Given the description of an element on the screen output the (x, y) to click on. 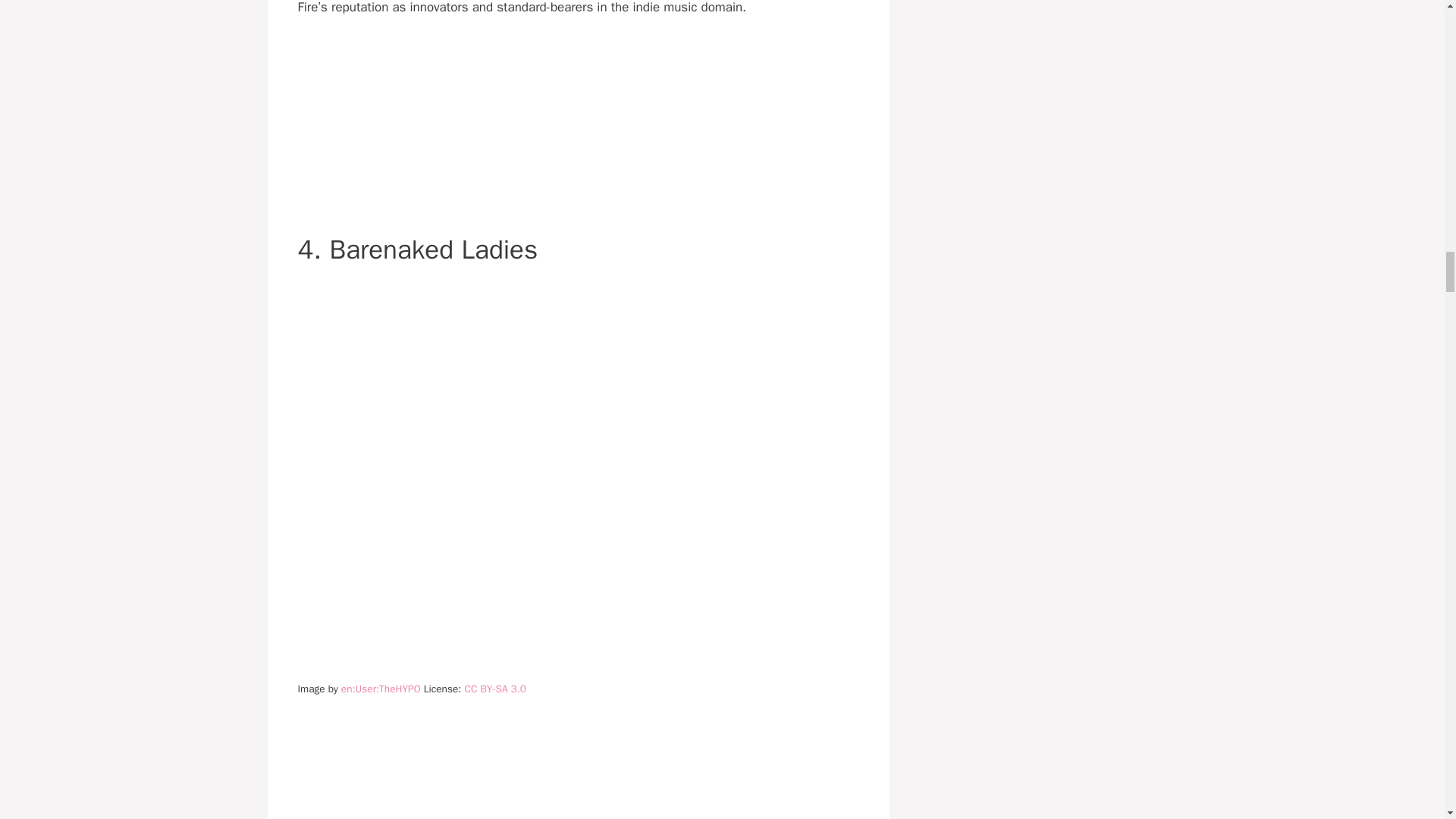
CC BY-SA 3.0 (494, 688)
en:User:TheHYPO (380, 688)
en:User:TheHYPO (380, 688)
